Given the description of an element on the screen output the (x, y) to click on. 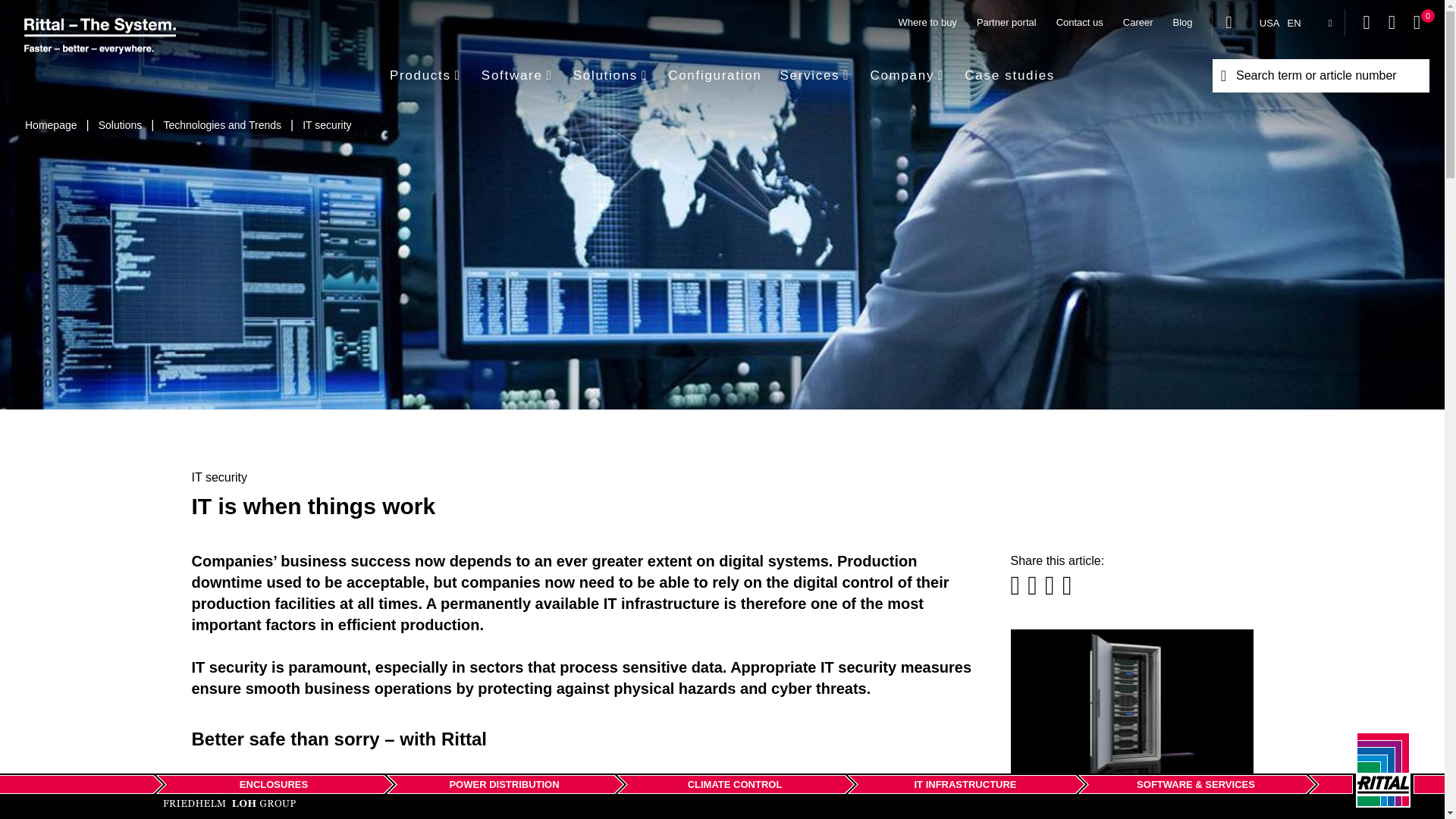
Products (430, 75)
Partner portal (1006, 22)
Case studies (1009, 75)
Friedhelm Loh Group (229, 803)
Technologies and Trends (221, 124)
Solutions (611, 75)
Solutions (119, 124)
Software (517, 75)
Company (907, 75)
Career (1138, 22)
Configuration (714, 75)
IT security (326, 124)
Where to buy (927, 22)
Services (815, 75)
Contact us (1079, 22)
